Given the description of an element on the screen output the (x, y) to click on. 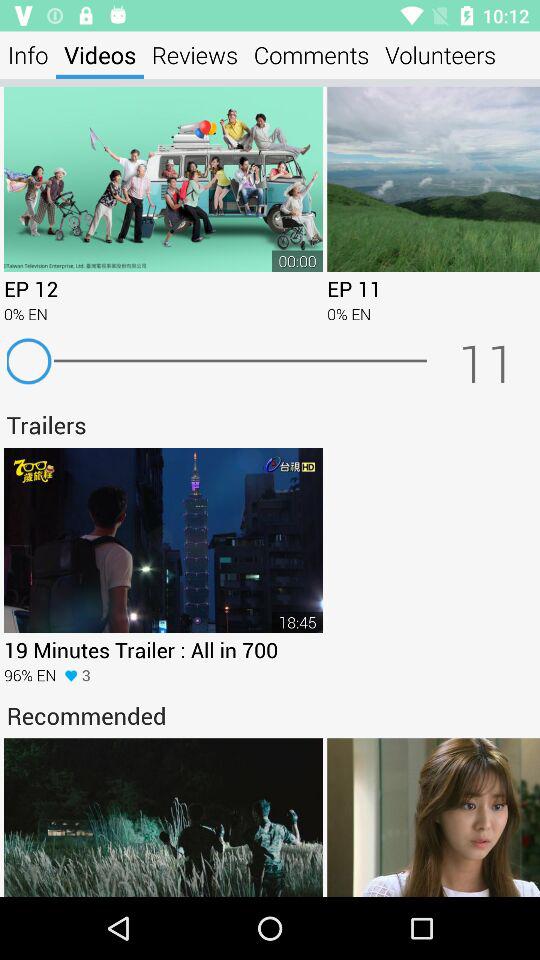
turn on item to the right of info app (100, 54)
